Given the description of an element on the screen output the (x, y) to click on. 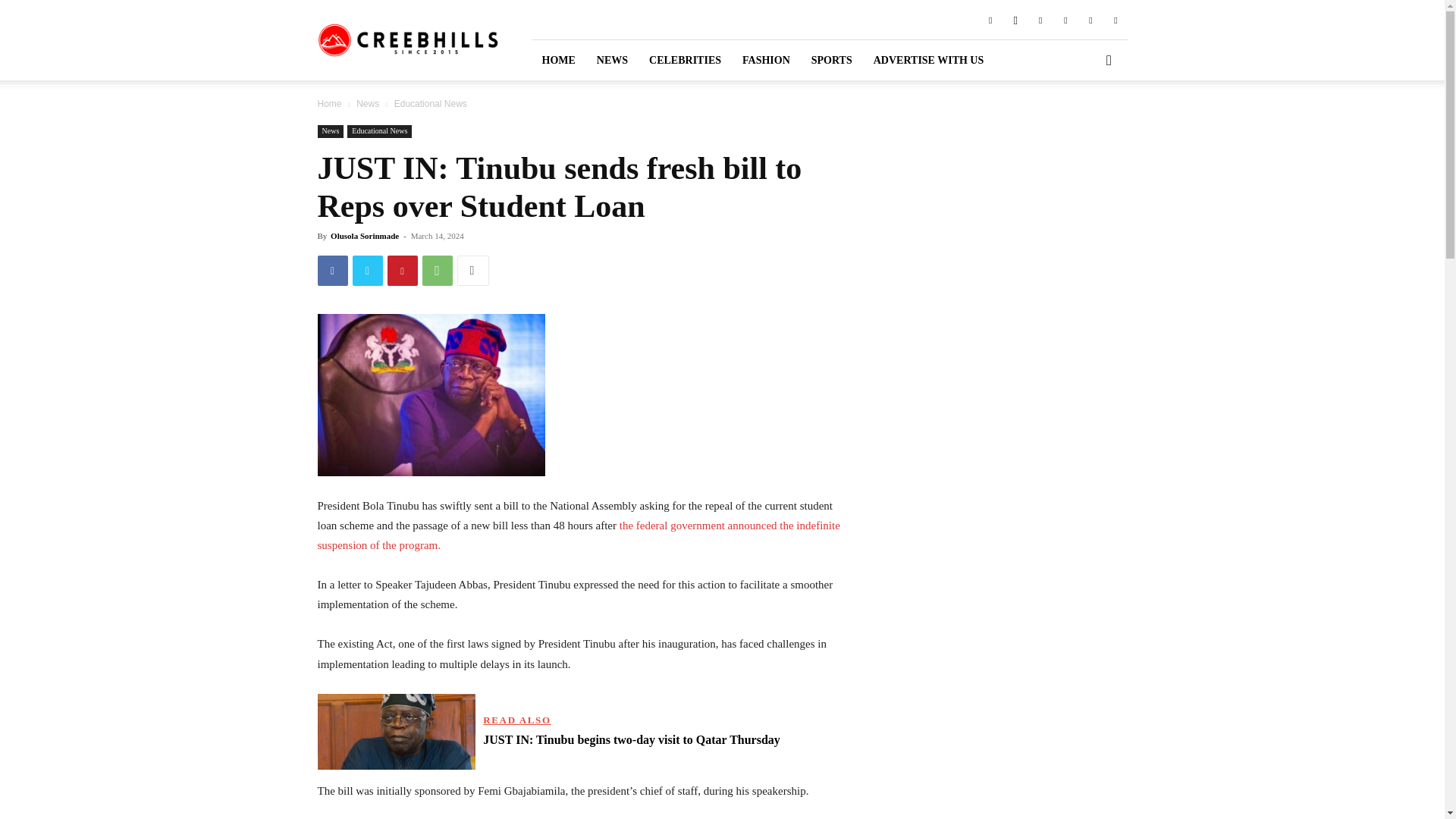
Educational News (379, 131)
Telegram (1065, 19)
Facebook (332, 270)
Olusola Sorinmade (364, 235)
Pinterest (1040, 19)
Instagram (1015, 19)
Youtube (1114, 19)
HOME (558, 60)
Search (1085, 122)
FASHION (766, 60)
NEWS (612, 60)
ADVERTISE WITH US (928, 60)
Facebook (989, 19)
News (330, 131)
SPORTS (831, 60)
